Given the description of an element on the screen output the (x, y) to click on. 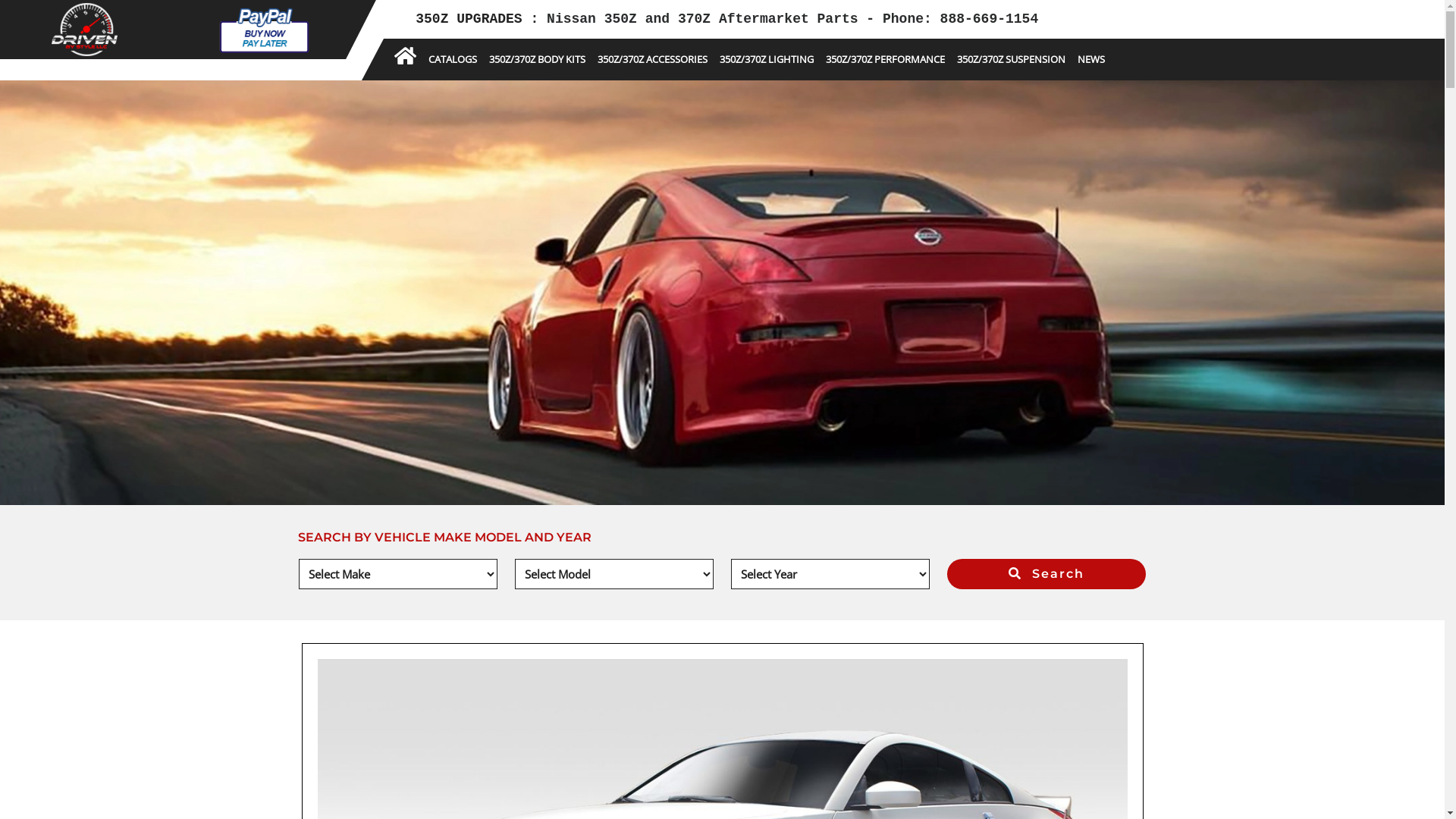
350Z/370Z LIGHTING Element type: text (766, 59)
350Z/370Z SUSPENSION Element type: text (1010, 59)
NEWS Element type: text (1090, 59)
350Z/370Z BODY KITS Element type: text (537, 59)
Search Element type: text (1046, 573)
350Z UPGRADES : Element type: text (480, 18)
CATALOGS Element type: text (452, 59)
350Z/370Z PERFORMANCE Element type: text (884, 59)
350Z/370Z ACCESSORIES Element type: text (652, 59)
